Given the description of an element on the screen output the (x, y) to click on. 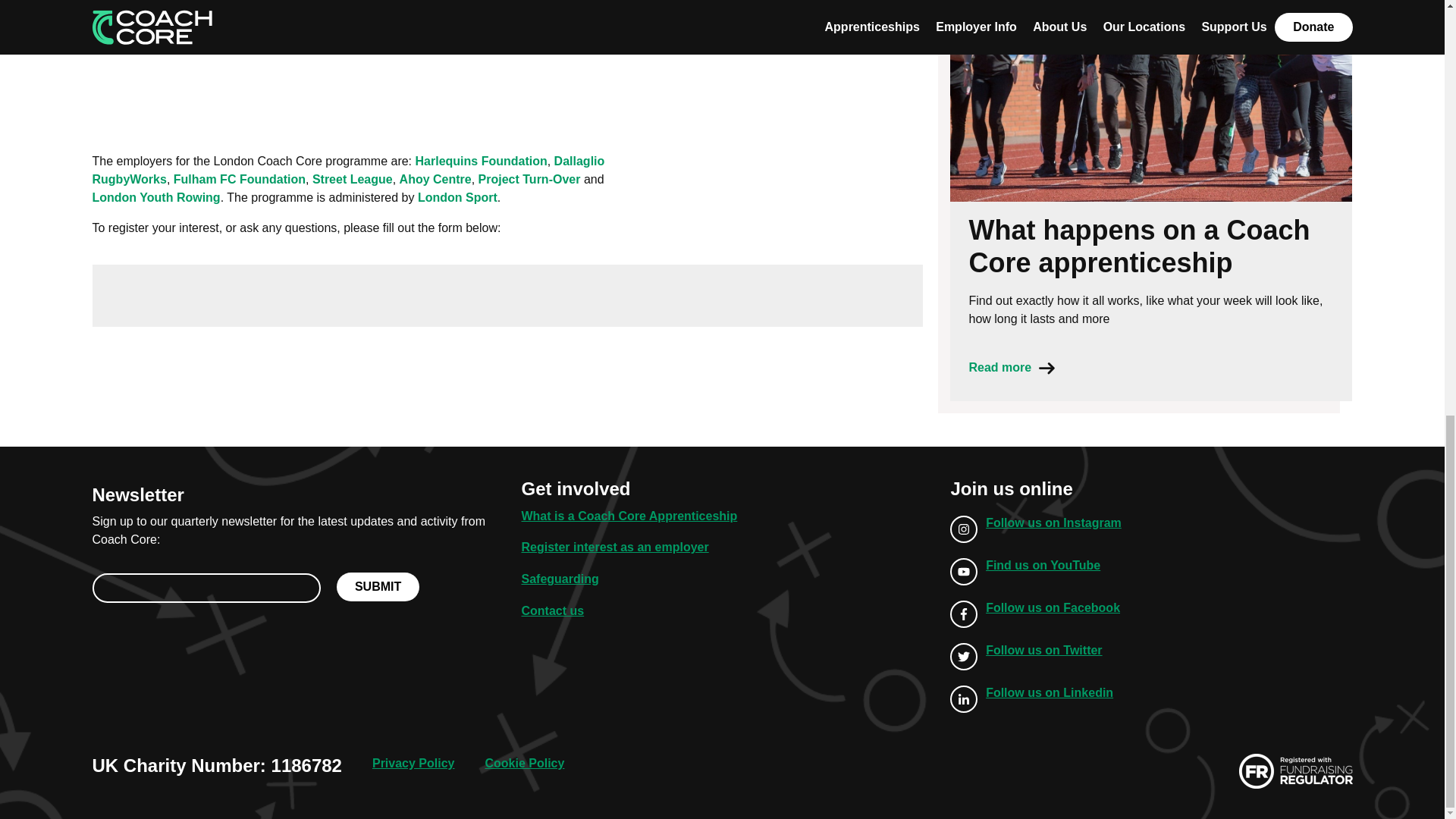
Follow us on Instagram (1035, 529)
Ahoy Centre (434, 178)
Safeguarding (559, 578)
Submit (377, 586)
What is a Coach Core Apprenticeship (628, 515)
Follow us on Linkedin (1035, 698)
Follow us on Twitter (1035, 656)
Street League (353, 178)
London Sport (457, 196)
Project Turn-Over (529, 178)
Five years of Coach Core Graduates (508, 62)
Find us on YouTube (1035, 571)
London Youth Rowing (157, 196)
Submit (377, 586)
Dallaglio RugbyWorks (349, 169)
